Given the description of an element on the screen output the (x, y) to click on. 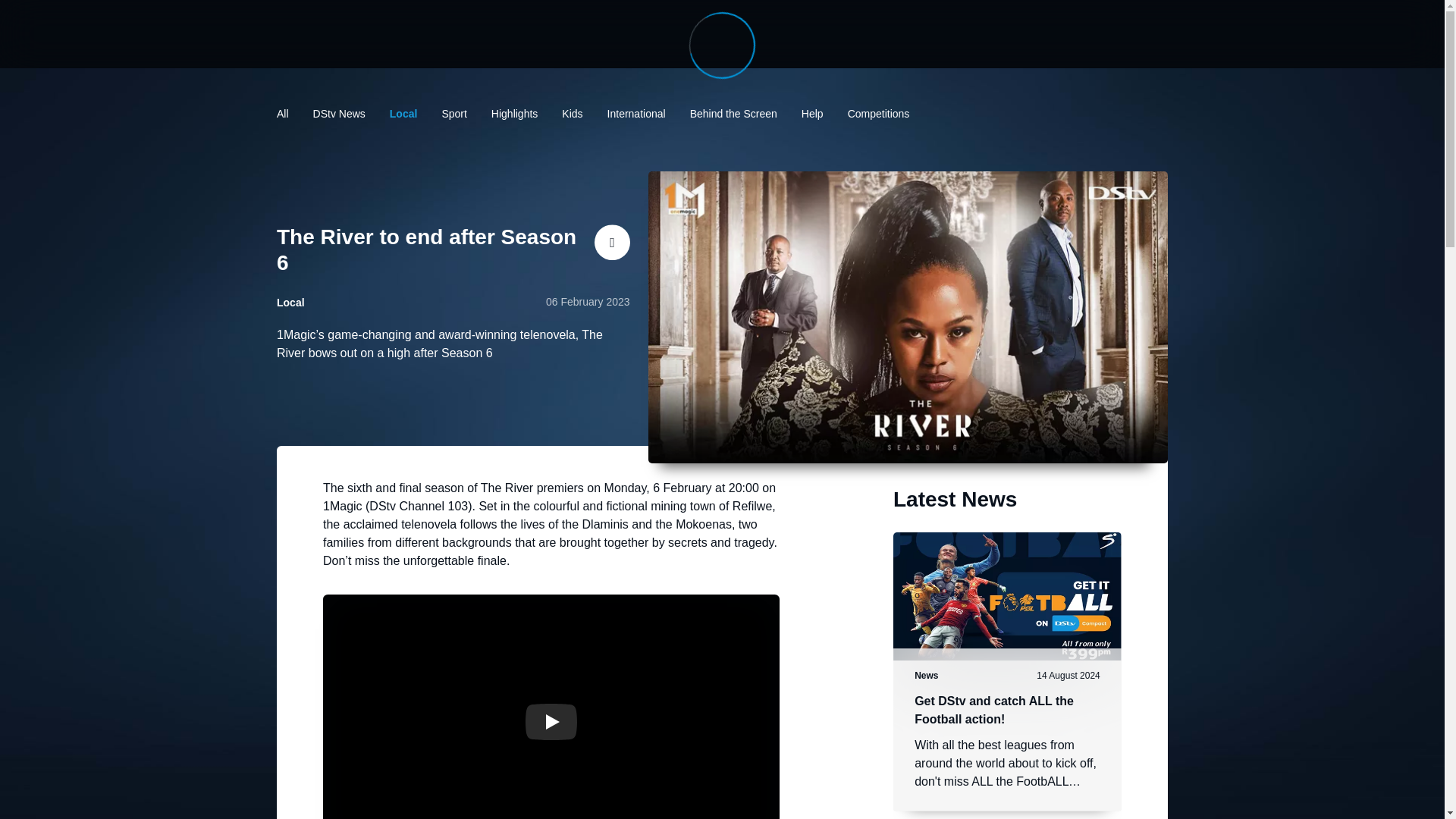
Sport (453, 113)
DStv News (339, 113)
Behind the Screen (733, 113)
Competitions (878, 113)
All (282, 113)
Highlights (514, 113)
Kids (572, 113)
International (636, 113)
Help (813, 113)
Local (403, 113)
